Given the description of an element on the screen output the (x, y) to click on. 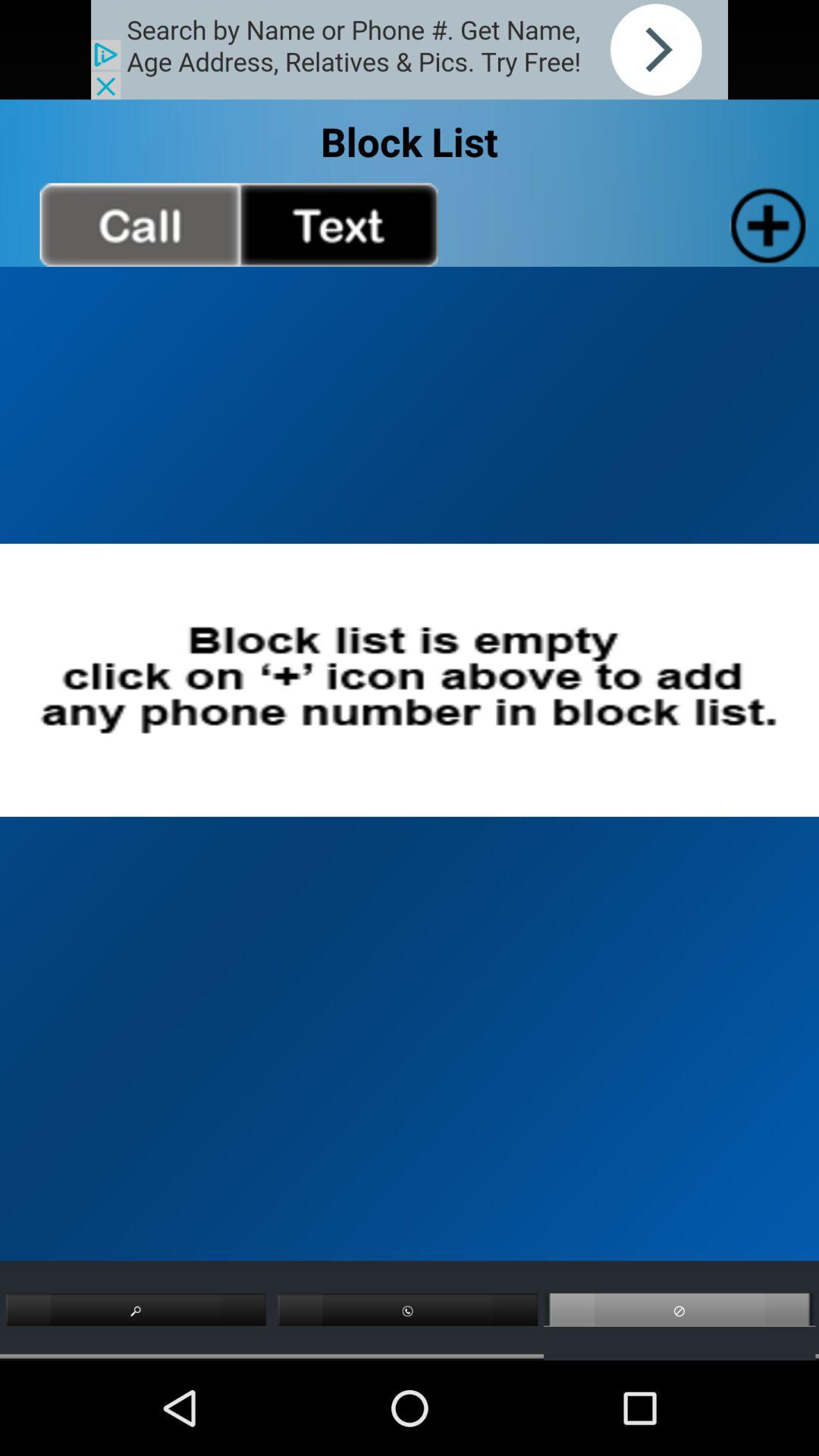
advertisement (409, 49)
